Given the description of an element on the screen output the (x, y) to click on. 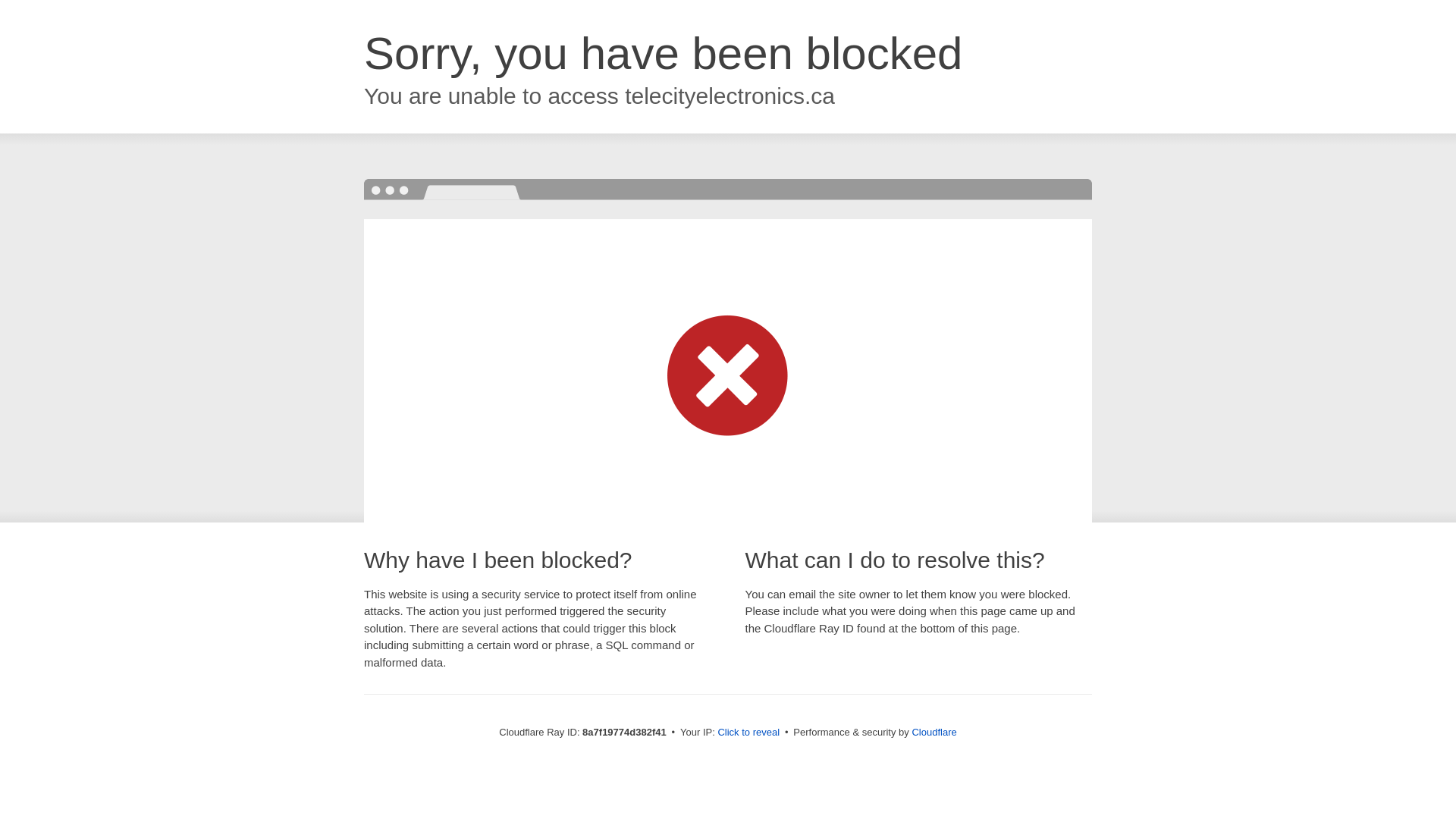
Cloudflare (933, 731)
Click to reveal (747, 732)
